Given the description of an element on the screen output the (x, y) to click on. 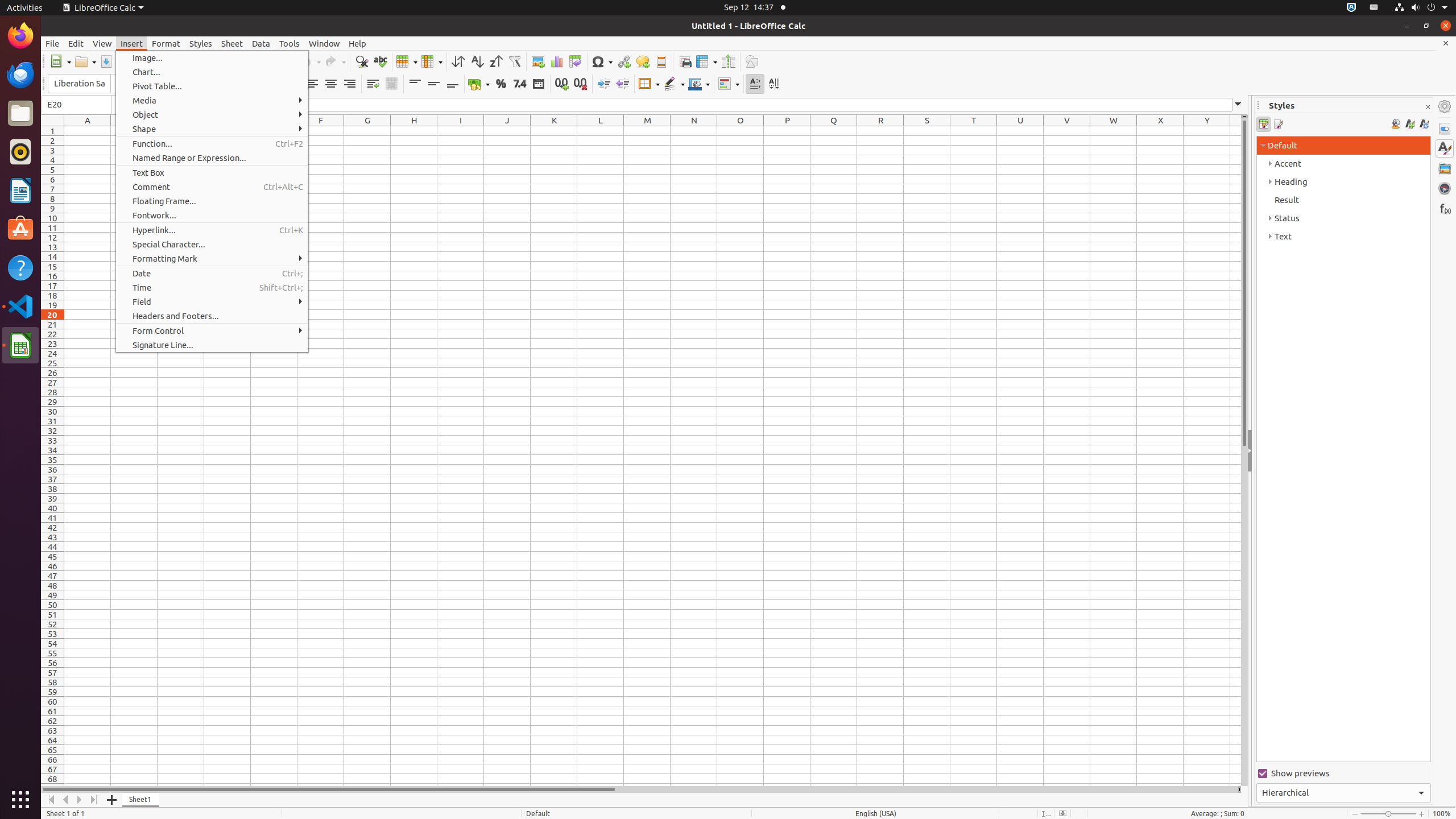
Date Element type: menu-item (212, 273)
Move Right Element type: push-button (79, 799)
Print Area Element type: push-button (684, 61)
Sort Element type: push-button (457, 61)
Chart... Element type: menu-item (212, 71)
